Given the description of an element on the screen output the (x, y) to click on. 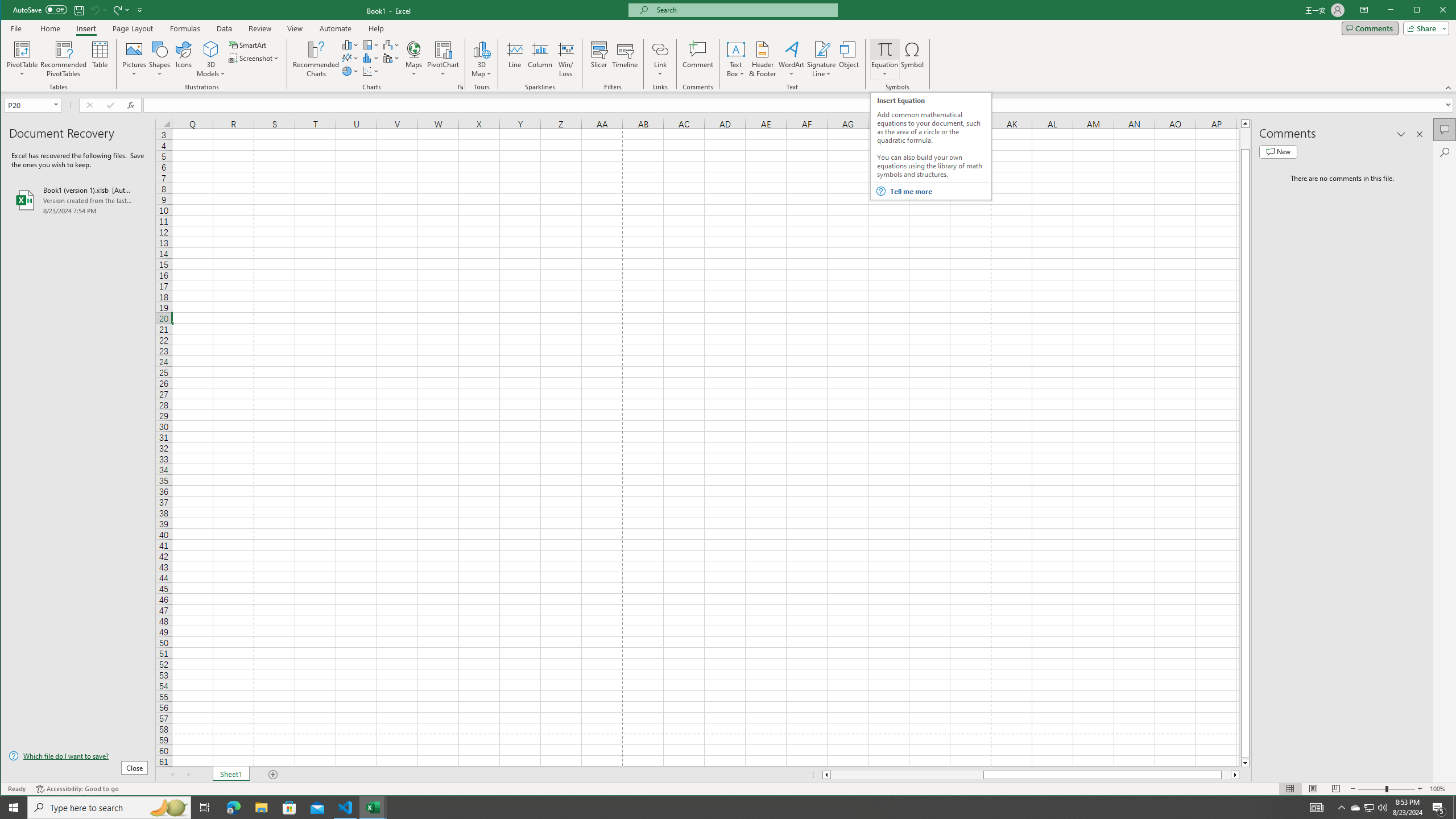
Class: NetUIImage (880, 190)
Timeline (625, 59)
Insert Scatter (X, Y) or Bubble Chart (371, 70)
Book1 (version 1).xlsb  [AutoRecovered] (78, 199)
Comment (697, 59)
Screenshot (254, 57)
Shapes (159, 59)
New comment (1278, 151)
